Given the description of an element on the screen output the (x, y) to click on. 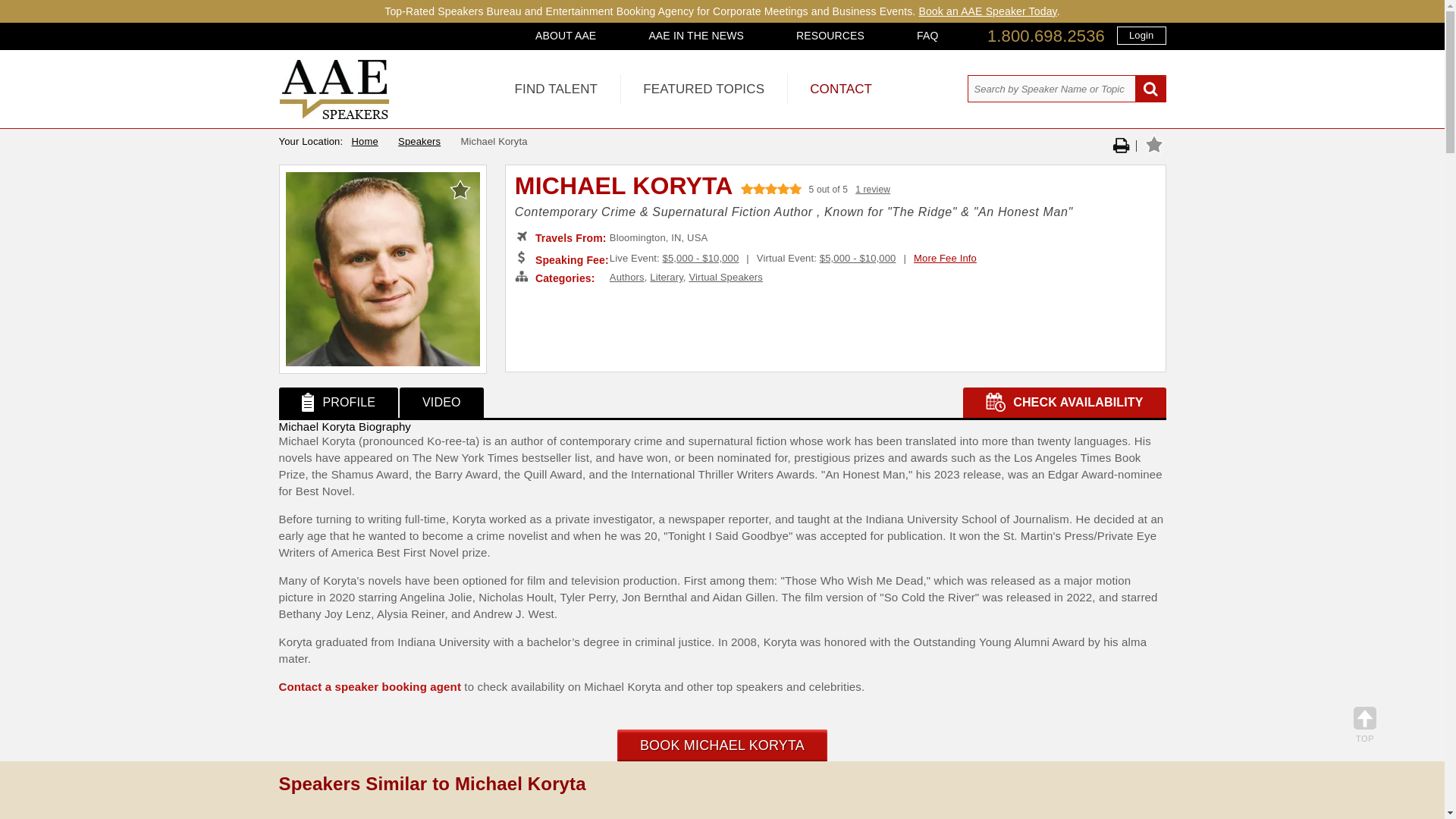
AAE IN THE NEWS (695, 34)
Login (1141, 35)
Book an AAE Speaker Today (987, 10)
RESOURCES (829, 34)
FAQ (927, 34)
All American Speakers Bureau and Celebrity Booking Agency (334, 115)
Search (1150, 89)
1.800.698.2536 (1046, 35)
ABOUT AAE (565, 34)
